Given the description of an element on the screen output the (x, y) to click on. 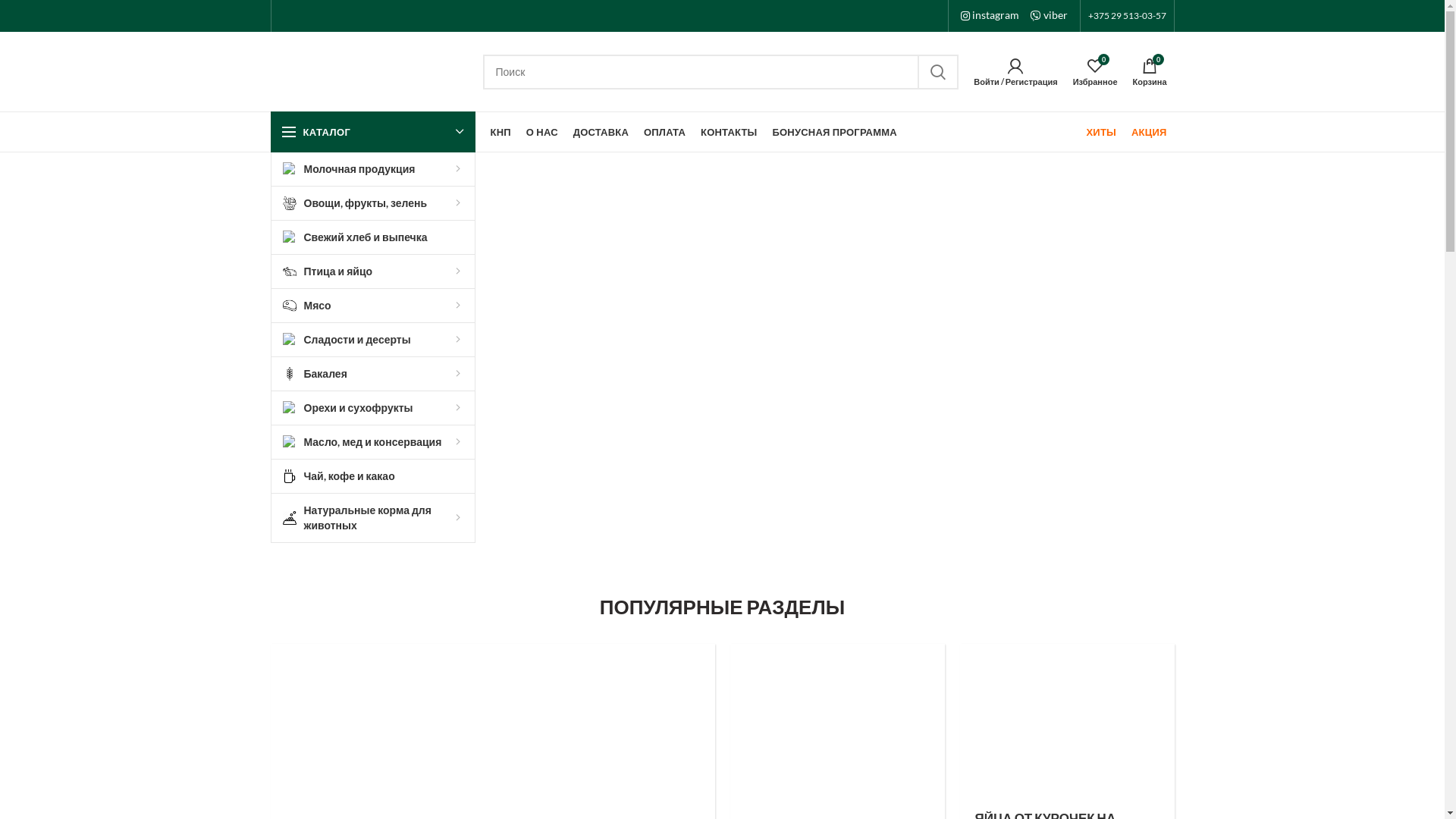
viber Element type: text (1048, 14)
instagram Element type: text (988, 14)
+375 29 513-03-57 Element type: text (1126, 15)
